Given the description of an element on the screen output the (x, y) to click on. 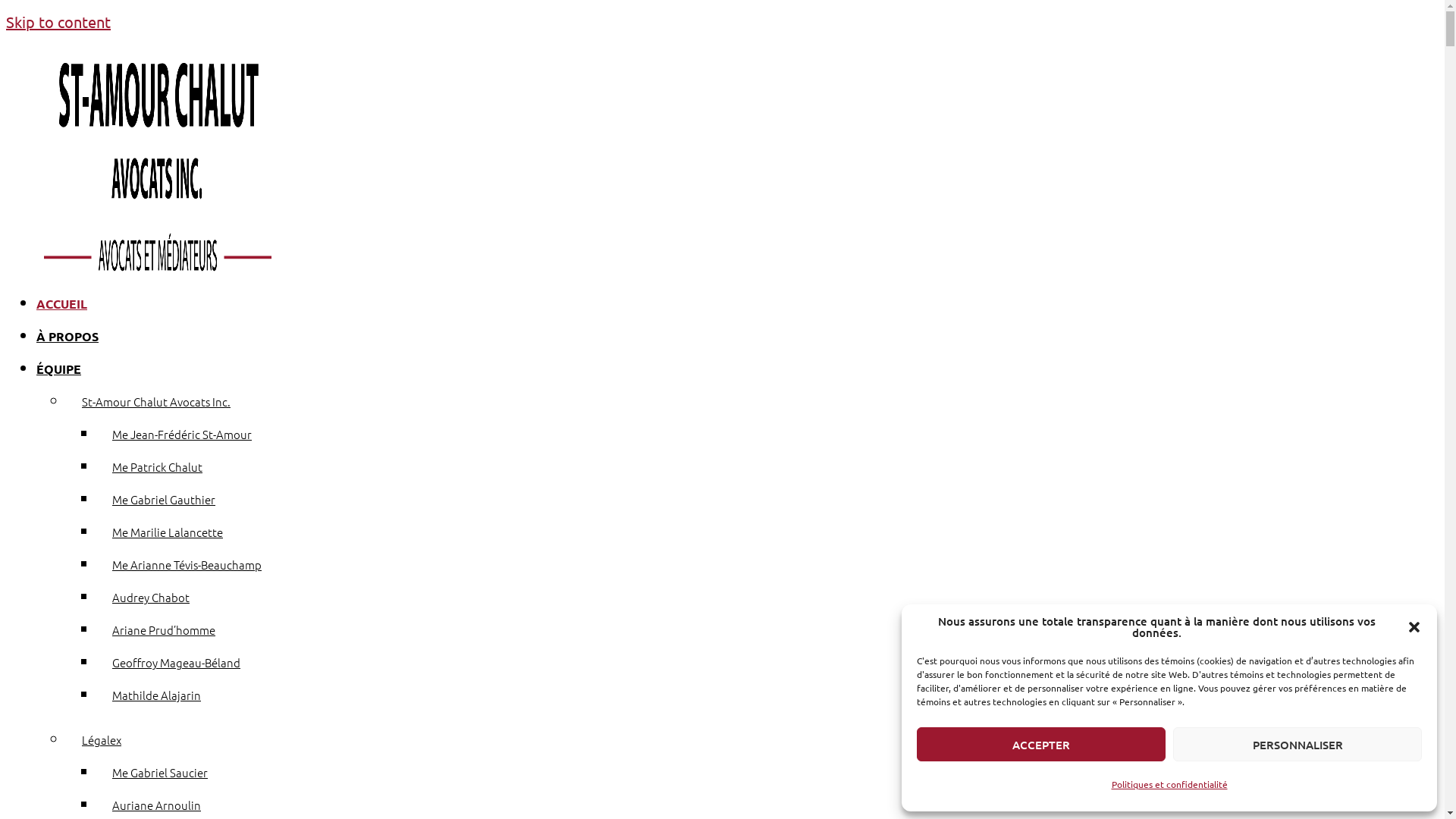
ACCUEIL Element type: text (61, 303)
Me Patrick Chalut Element type: text (157, 466)
PERSONNALISER Element type: text (1297, 744)
Mathilde Alajarin Element type: text (156, 694)
Audrey Chabot Element type: text (150, 596)
Skip to content Element type: text (58, 21)
Me Gabriel Saucier Element type: text (159, 772)
St-Amour Chalut Avocats Inc. Element type: text (155, 401)
Me Gabriel Gauthier Element type: text (163, 499)
Me Marilie Lalancette Element type: text (167, 531)
ACCEPTER Element type: text (1040, 744)
